Given the description of an element on the screen output the (x, y) to click on. 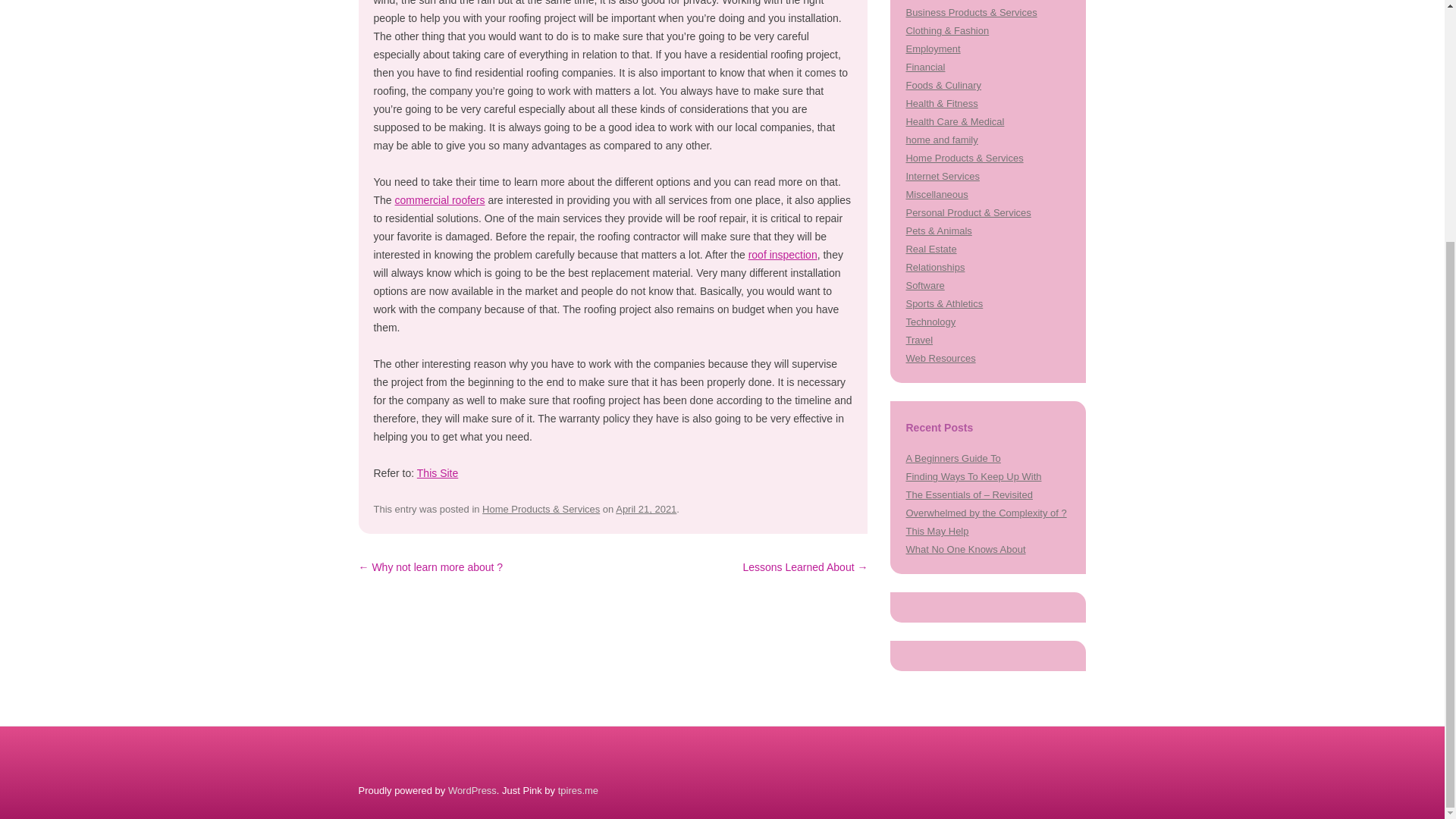
Relationships (934, 266)
Software (924, 285)
Semantic Personal Publishing Platform (472, 790)
Overwhelmed by the Complexity of ? This May Help (985, 521)
9:17 am (646, 509)
Travel (919, 339)
Employment (932, 48)
Real Estate (930, 248)
Technology (930, 321)
Finding Ways To Keep Up With (973, 476)
A Beginners Guide To (952, 458)
home and family (940, 139)
Web Resources (940, 357)
Miscellaneous (936, 194)
This Site (437, 472)
